Given the description of an element on the screen output the (x, y) to click on. 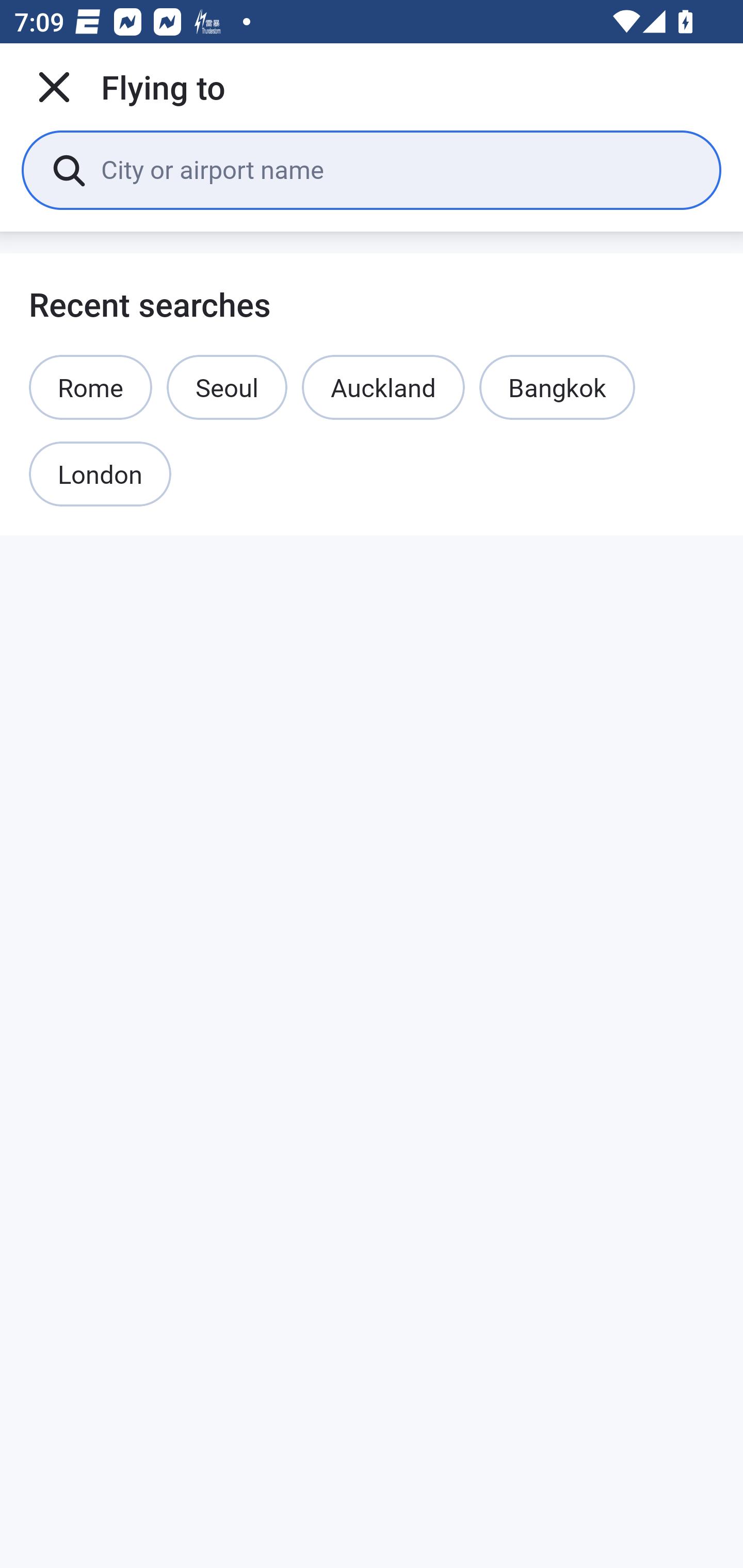
City or airport name (396, 169)
Rome (90, 387)
Seoul (226, 387)
Auckland (383, 387)
Bangkok (557, 387)
London (99, 474)
